Given the description of an element on the screen output the (x, y) to click on. 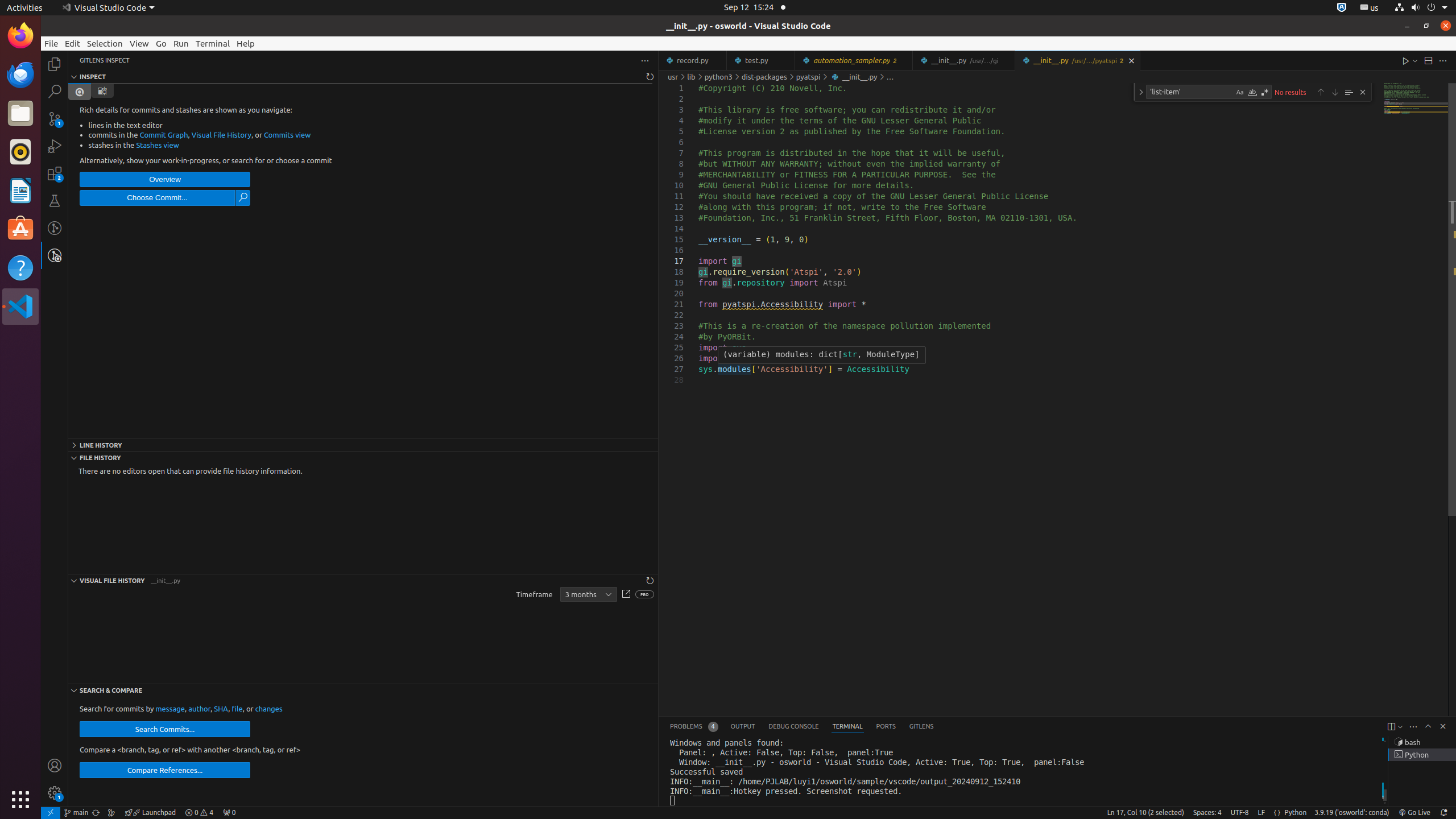
OSWorld (Git) - main, Checkout Branch/Tag... Element type: push-button (75, 812)
Output (Ctrl+K Ctrl+H) Element type: page-tab (742, 726)
__init__.py Element type: page-tab (1077, 60)
 Element type: push-button (79, 92)
